Given the description of an element on the screen output the (x, y) to click on. 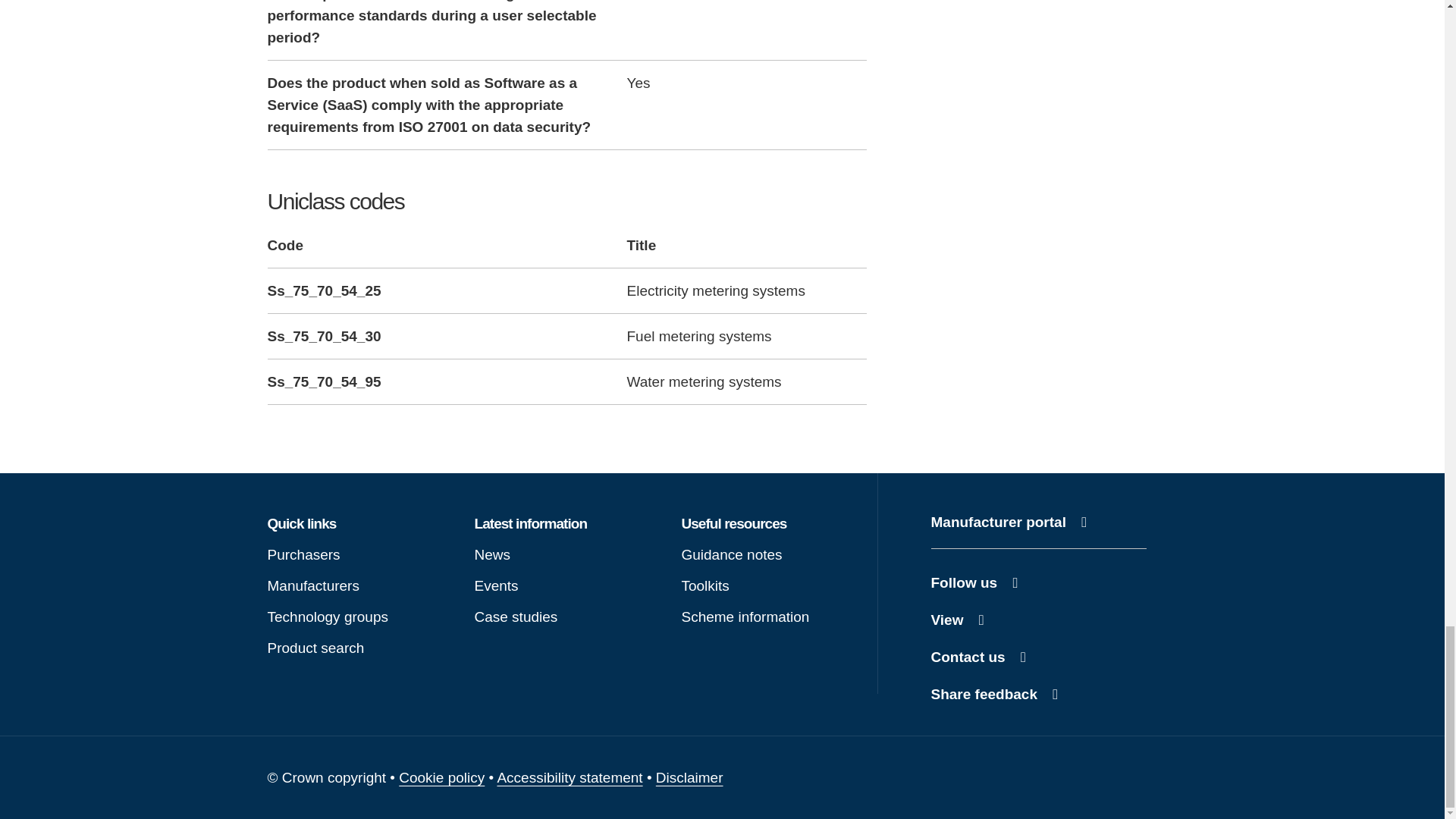
Technology groups (358, 616)
Contact us (1039, 656)
Case studies (566, 616)
Accessibility statement (569, 777)
Manufacturers (358, 585)
Scheme information (772, 616)
Events (566, 585)
Purchasers (1039, 582)
Share feedback (358, 554)
Product search (1039, 693)
Guidance notes (358, 647)
Cookie policy (772, 554)
Manufacturer portal (441, 777)
Toolkits (1039, 522)
